Given the description of an element on the screen output the (x, y) to click on. 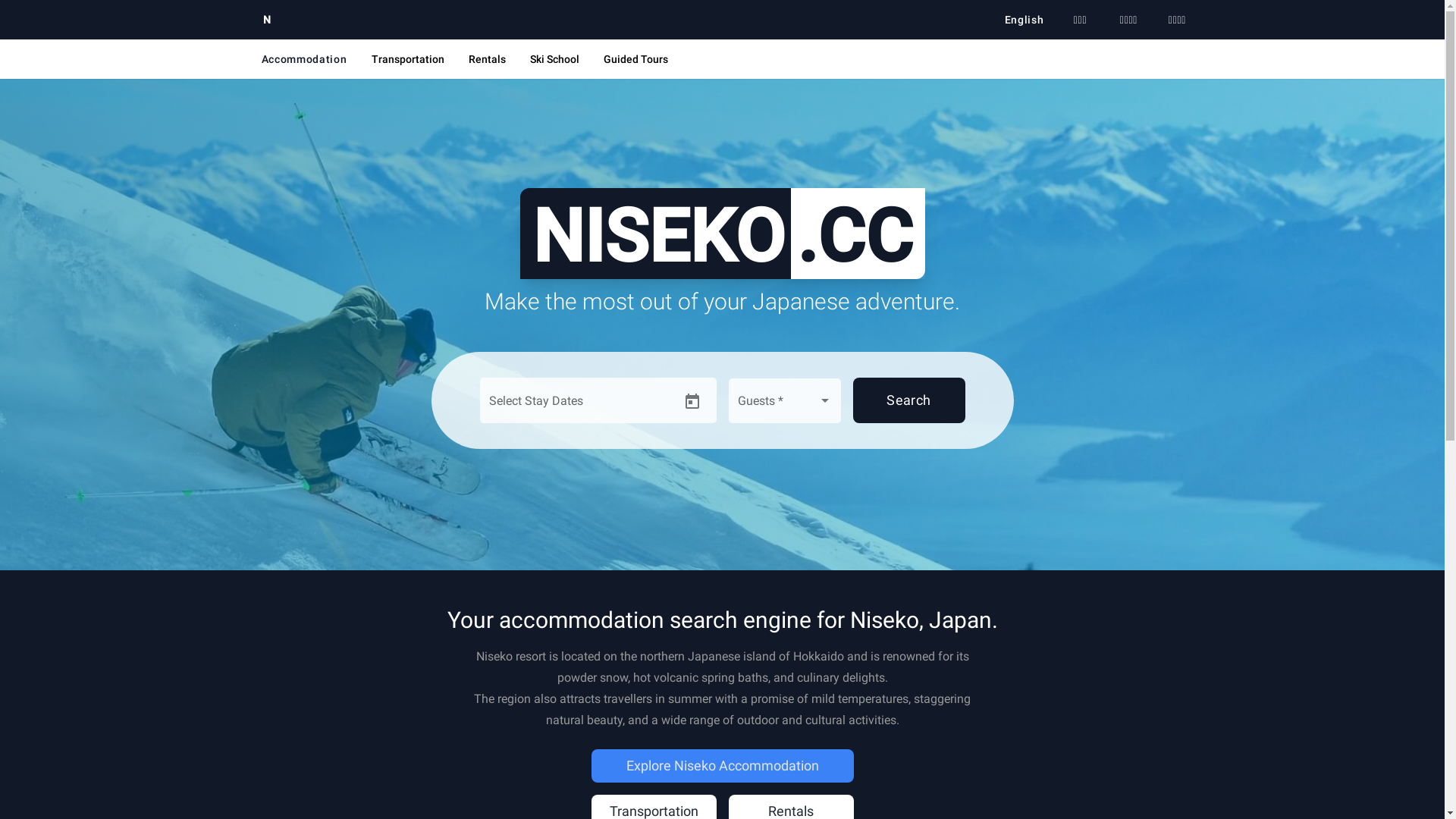
Rentals Element type: text (486, 58)
English Element type: text (1024, 19)
Search Element type: text (908, 400)
Guided Tours Element type: text (635, 58)
Ski School Element type: text (554, 58)
Accommodation Element type: text (303, 58)
Transportation Element type: text (407, 58)
N Element type: text (266, 19)
Explore Niseko Accommodation Element type: text (722, 765)
